Given the description of an element on the screen output the (x, y) to click on. 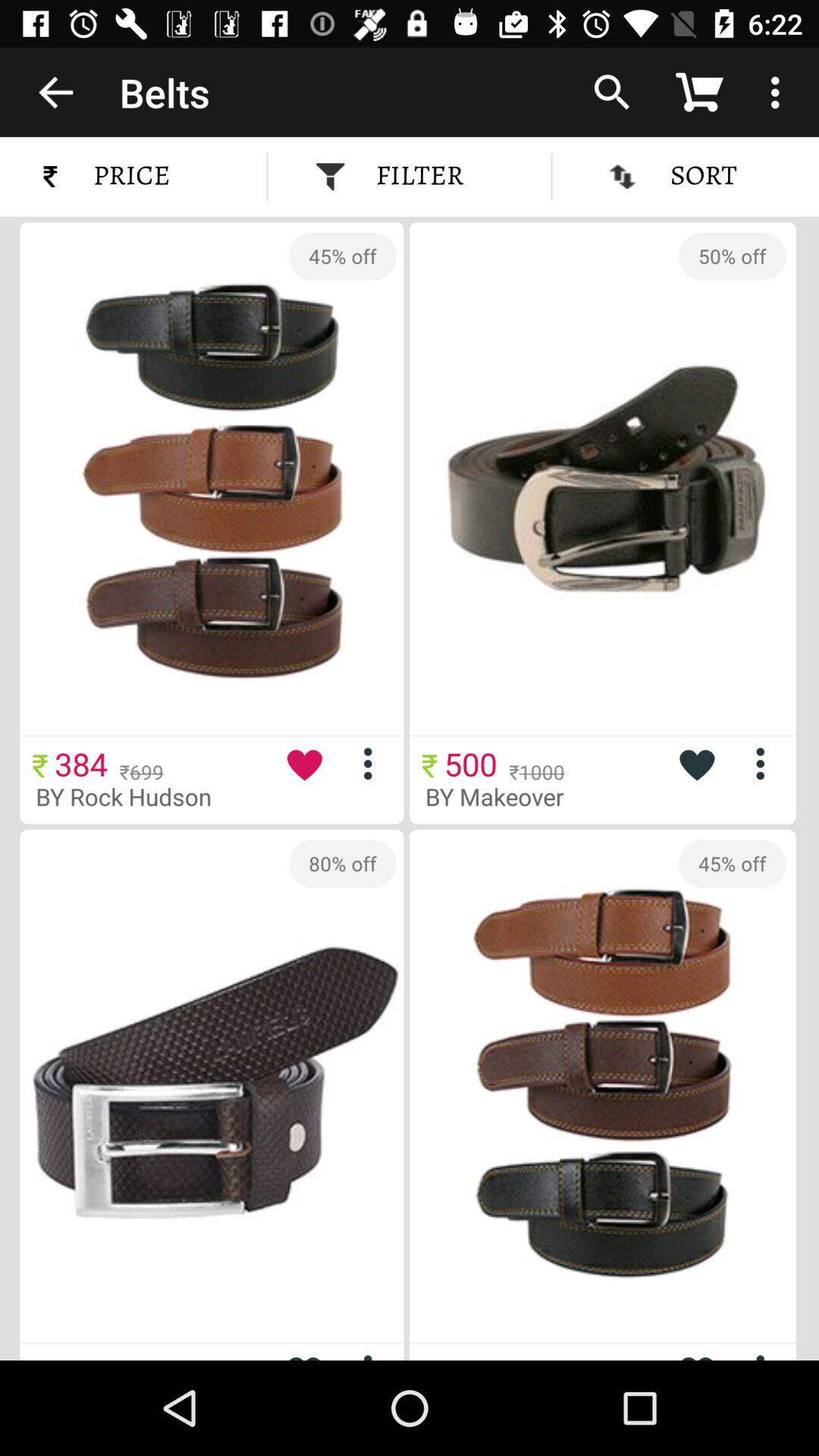
get additional options for the product (766, 763)
